Given the description of an element on the screen output the (x, y) to click on. 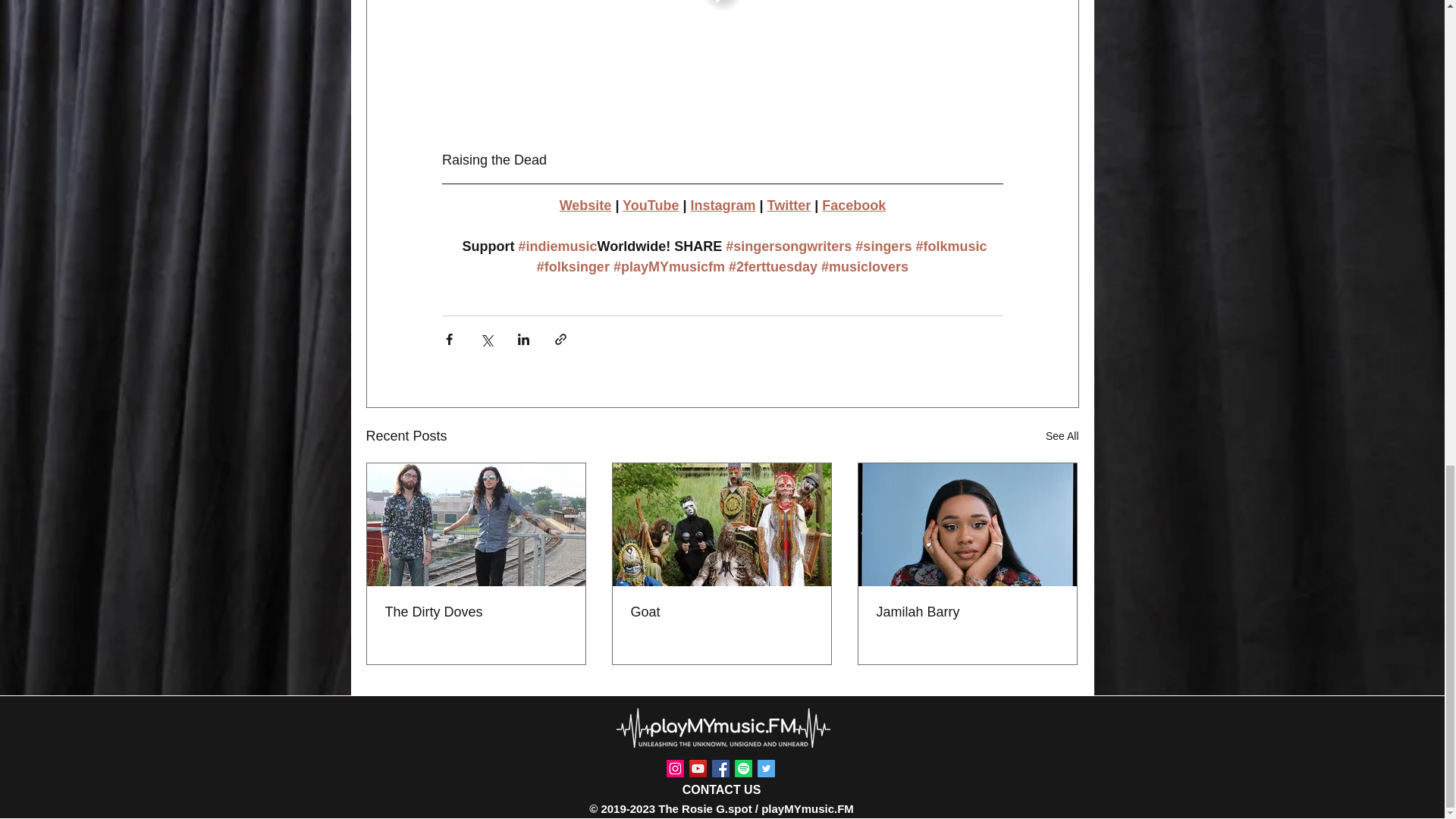
YouTube (650, 205)
Instagram (722, 205)
Twitter (788, 205)
Website (585, 205)
Facebook (853, 205)
